Given the description of an element on the screen output the (x, y) to click on. 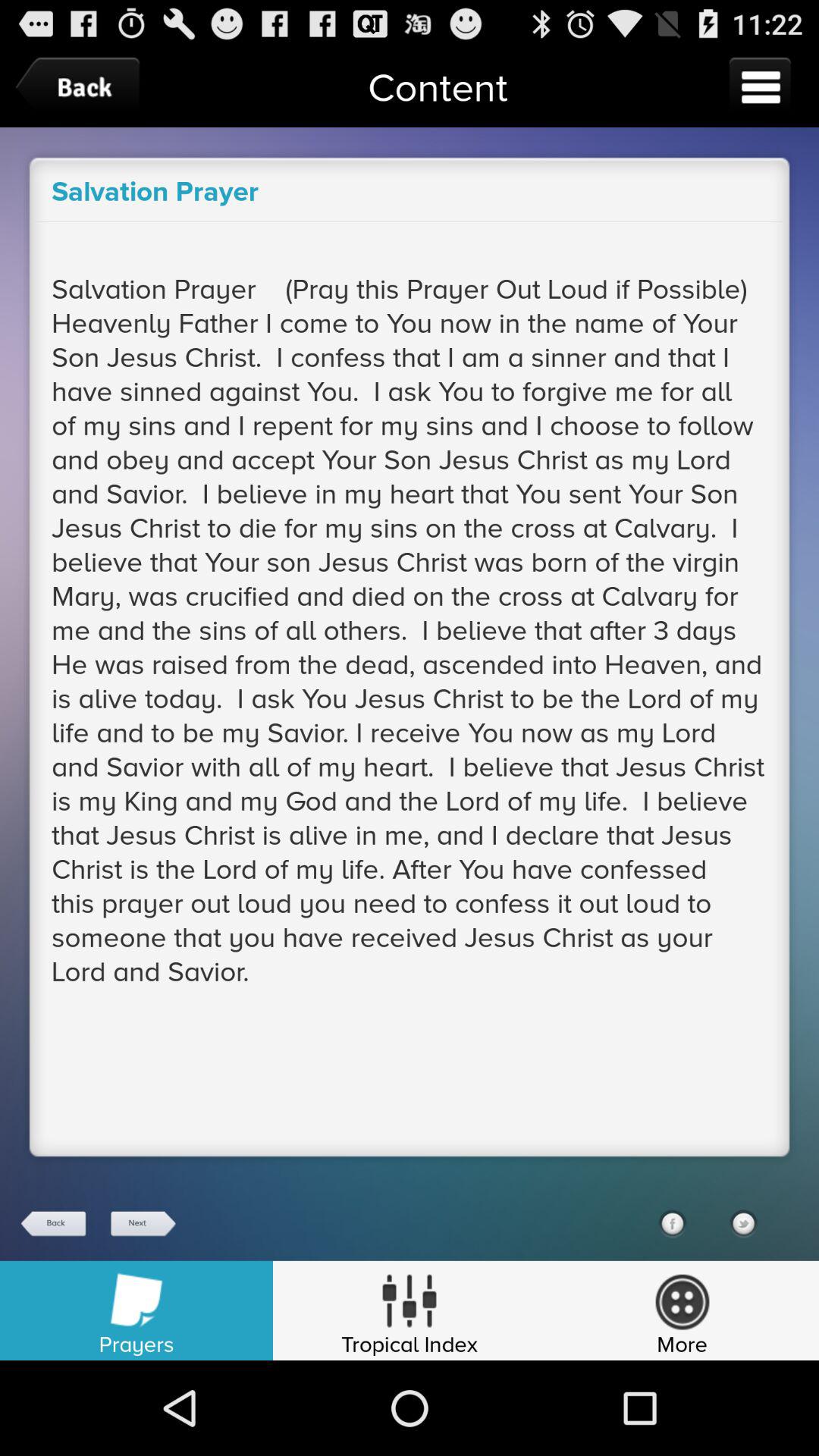
open menu (760, 87)
